Given the description of an element on the screen output the (x, y) to click on. 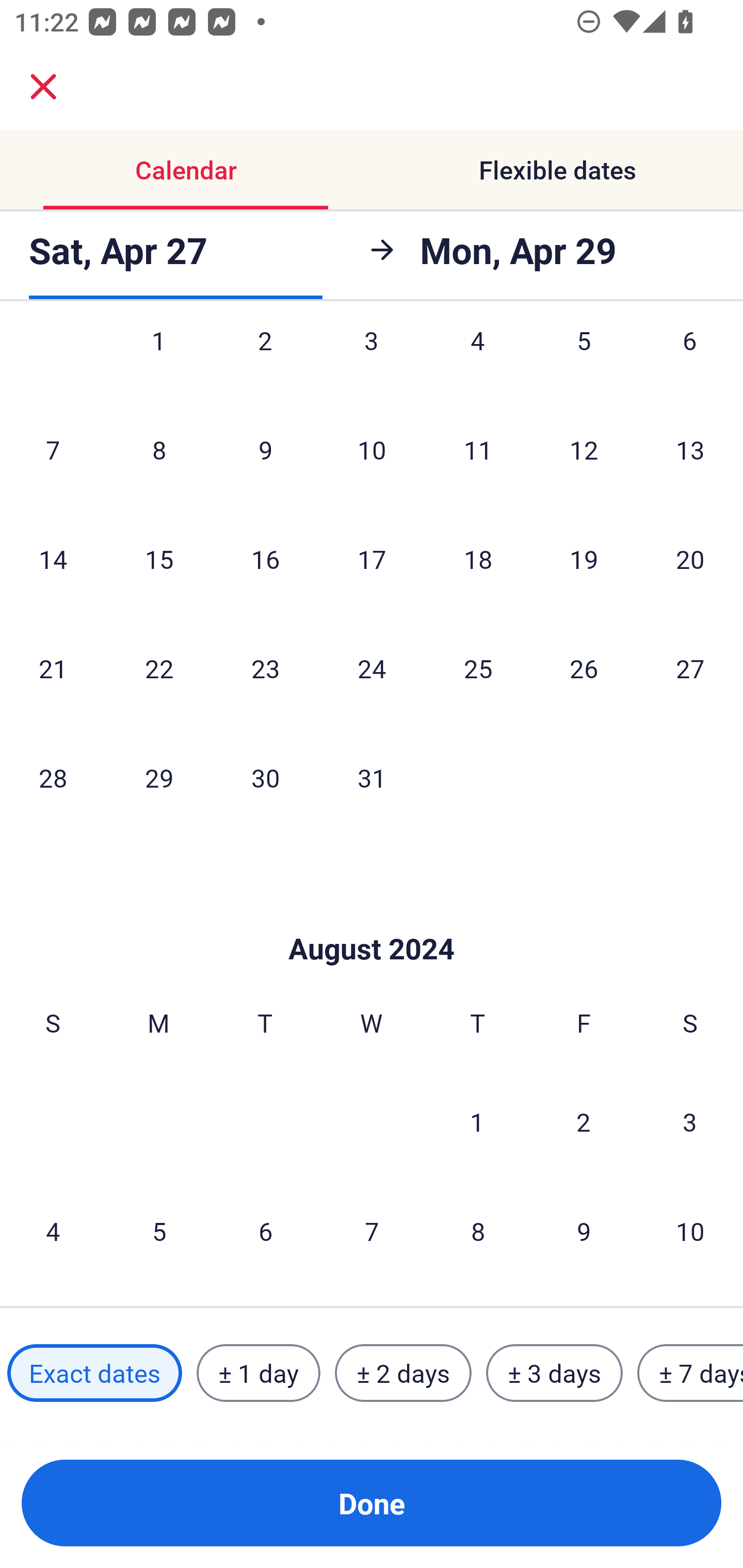
close. (43, 86)
Flexible dates (557, 170)
1 Monday, July 1, 2024 (158, 361)
2 Tuesday, July 2, 2024 (264, 361)
3 Wednesday, July 3, 2024 (371, 361)
4 Thursday, July 4, 2024 (477, 361)
5 Friday, July 5, 2024 (583, 361)
6 Saturday, July 6, 2024 (689, 361)
7 Sunday, July 7, 2024 (53, 448)
8 Monday, July 8, 2024 (159, 448)
9 Tuesday, July 9, 2024 (265, 448)
10 Wednesday, July 10, 2024 (371, 448)
11 Thursday, July 11, 2024 (477, 448)
12 Friday, July 12, 2024 (584, 448)
13 Saturday, July 13, 2024 (690, 448)
14 Sunday, July 14, 2024 (53, 558)
15 Monday, July 15, 2024 (159, 558)
16 Tuesday, July 16, 2024 (265, 558)
17 Wednesday, July 17, 2024 (371, 558)
18 Thursday, July 18, 2024 (477, 558)
19 Friday, July 19, 2024 (584, 558)
20 Saturday, July 20, 2024 (690, 558)
21 Sunday, July 21, 2024 (53, 667)
22 Monday, July 22, 2024 (159, 667)
23 Tuesday, July 23, 2024 (265, 667)
24 Wednesday, July 24, 2024 (371, 667)
25 Thursday, July 25, 2024 (477, 667)
26 Friday, July 26, 2024 (584, 667)
27 Saturday, July 27, 2024 (690, 667)
28 Sunday, July 28, 2024 (53, 777)
29 Monday, July 29, 2024 (159, 777)
30 Tuesday, July 30, 2024 (265, 777)
31 Wednesday, July 31, 2024 (371, 777)
Skip to Done (371, 917)
1 Thursday, August 1, 2024 (477, 1121)
2 Friday, August 2, 2024 (583, 1121)
3 Saturday, August 3, 2024 (689, 1121)
4 Sunday, August 4, 2024 (53, 1230)
5 Monday, August 5, 2024 (159, 1230)
6 Tuesday, August 6, 2024 (265, 1230)
7 Wednesday, August 7, 2024 (371, 1230)
8 Thursday, August 8, 2024 (477, 1230)
9 Friday, August 9, 2024 (584, 1230)
10 Saturday, August 10, 2024 (690, 1230)
Exact dates (94, 1372)
± 1 day (258, 1372)
± 2 days (403, 1372)
± 3 days (553, 1372)
± 7 days (690, 1372)
Done (371, 1502)
